Given the description of an element on the screen output the (x, y) to click on. 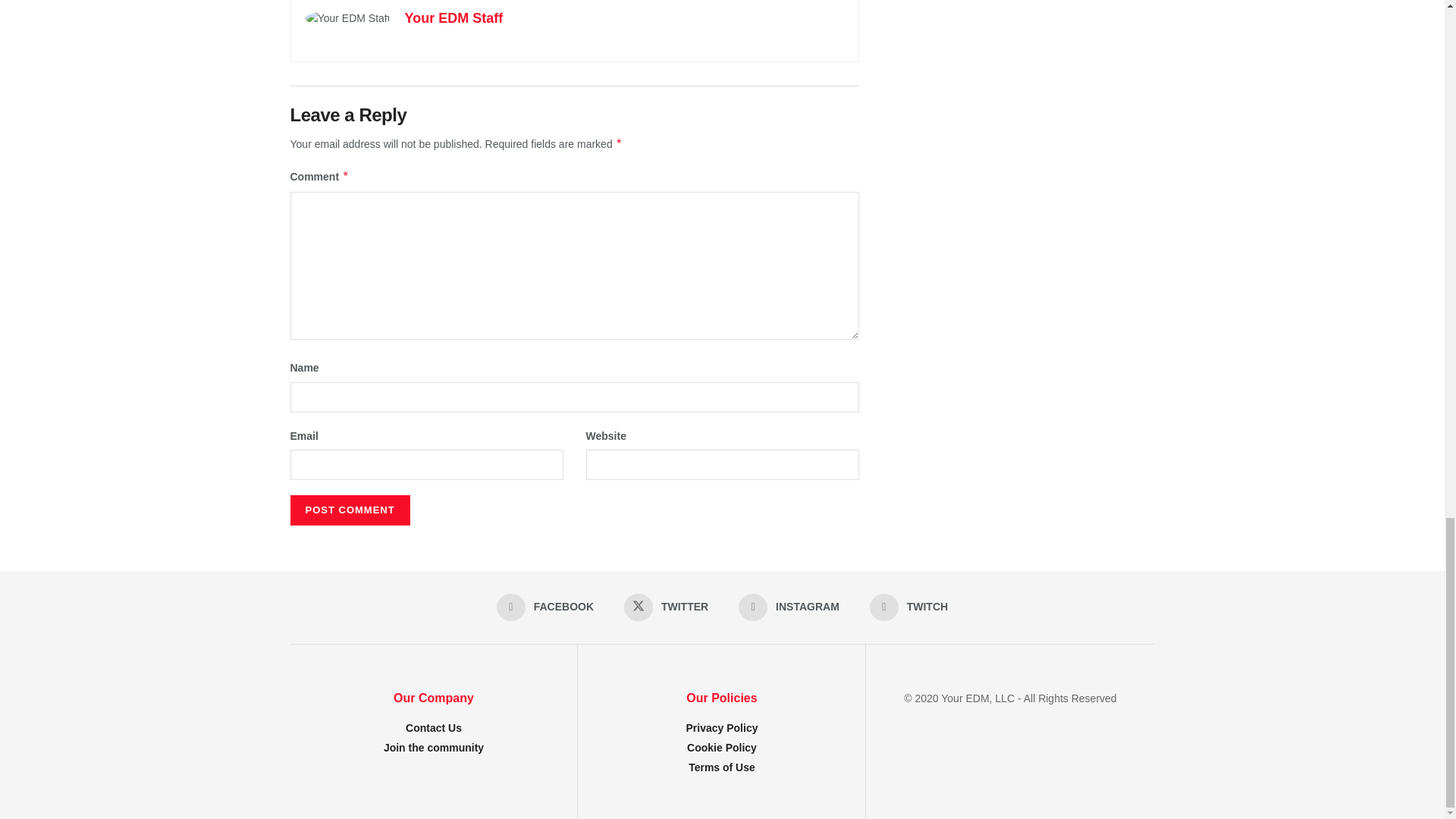
Post Comment (349, 510)
